Given the description of an element on the screen output the (x, y) to click on. 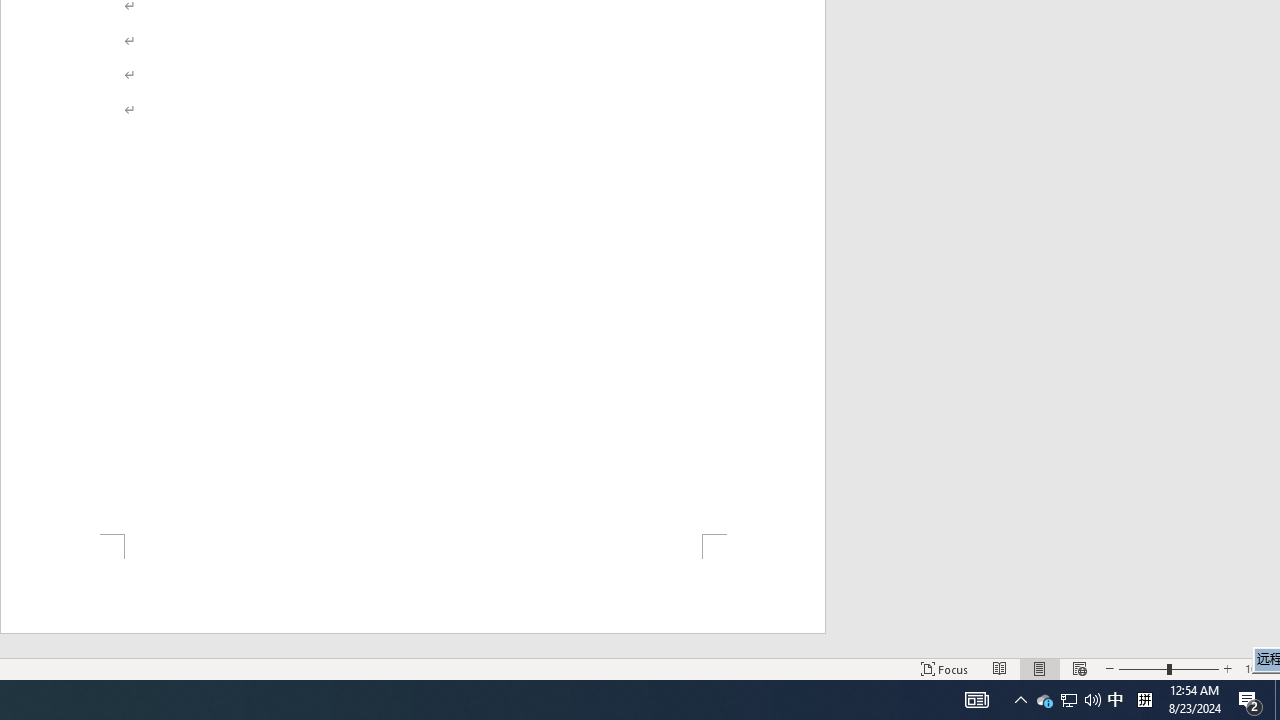
Print Layout (1039, 668)
Zoom In (1227, 668)
Zoom (1168, 668)
Zoom 104% (1258, 668)
Web Layout (1079, 668)
Zoom Out (1142, 668)
Focus  (944, 668)
Read Mode (1000, 668)
